Given the description of an element on the screen output the (x, y) to click on. 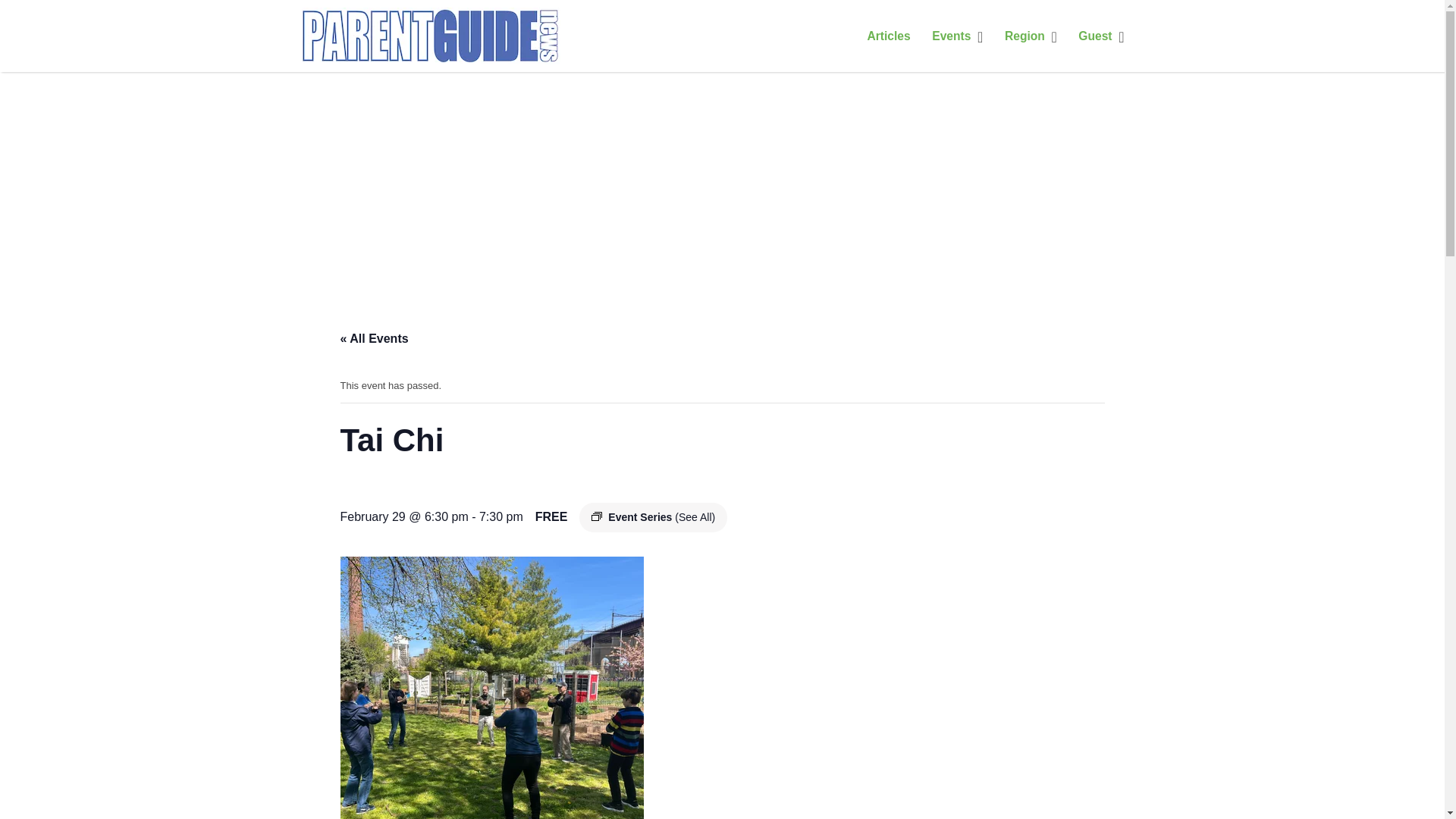
Region (1024, 35)
Guest (1095, 35)
Event Series (596, 515)
Articles (888, 35)
Event Series (596, 517)
Events (951, 35)
